Given the description of an element on the screen output the (x, y) to click on. 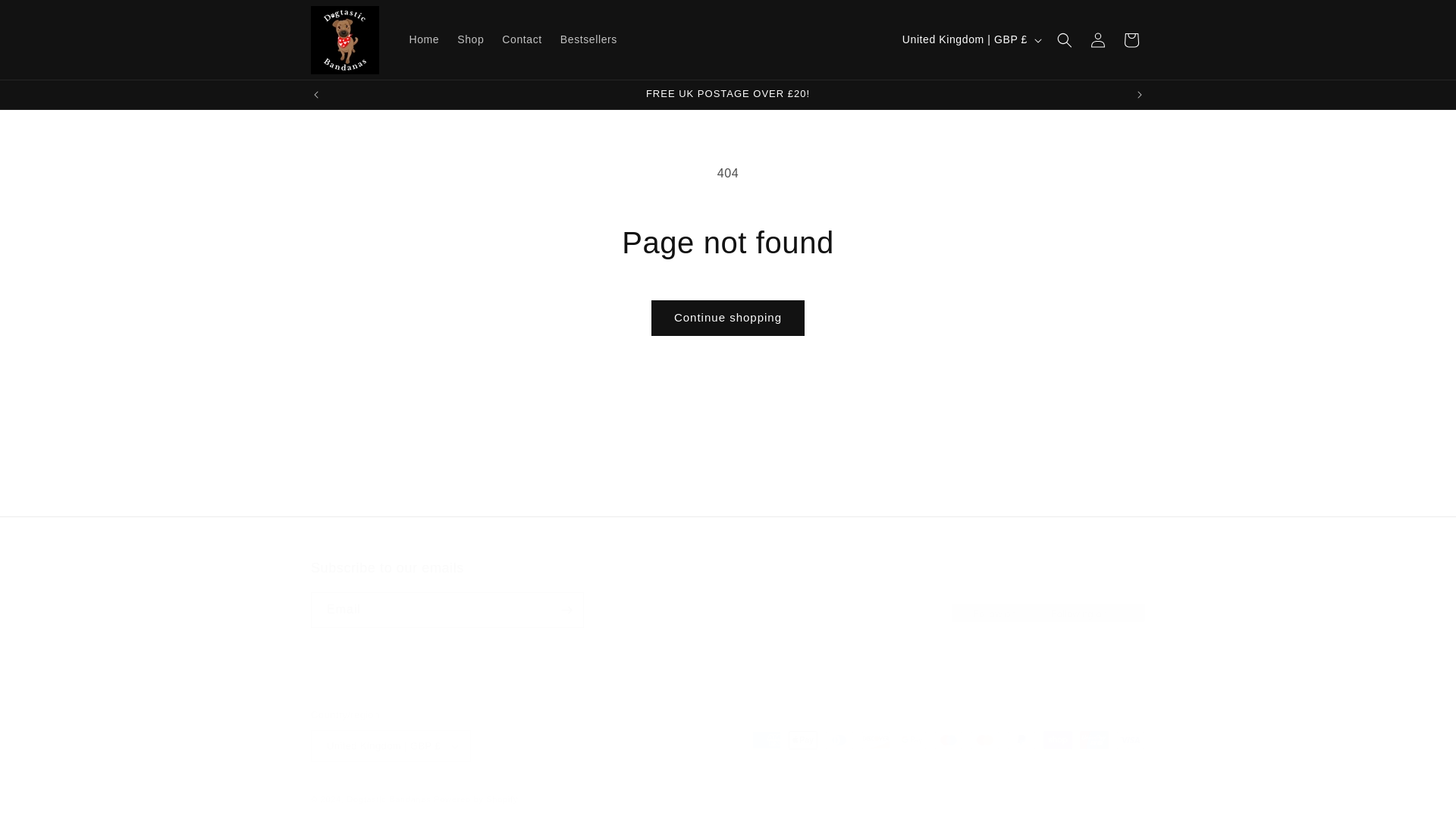
Bestsellers (727, 593)
Continue shopping (588, 39)
Log in (727, 317)
Cart (1098, 39)
Skip to content (1131, 39)
Contact (45, 17)
Shop (521, 39)
Home (470, 39)
Powered by Shopify (424, 39)
